Given the description of an element on the screen output the (x, y) to click on. 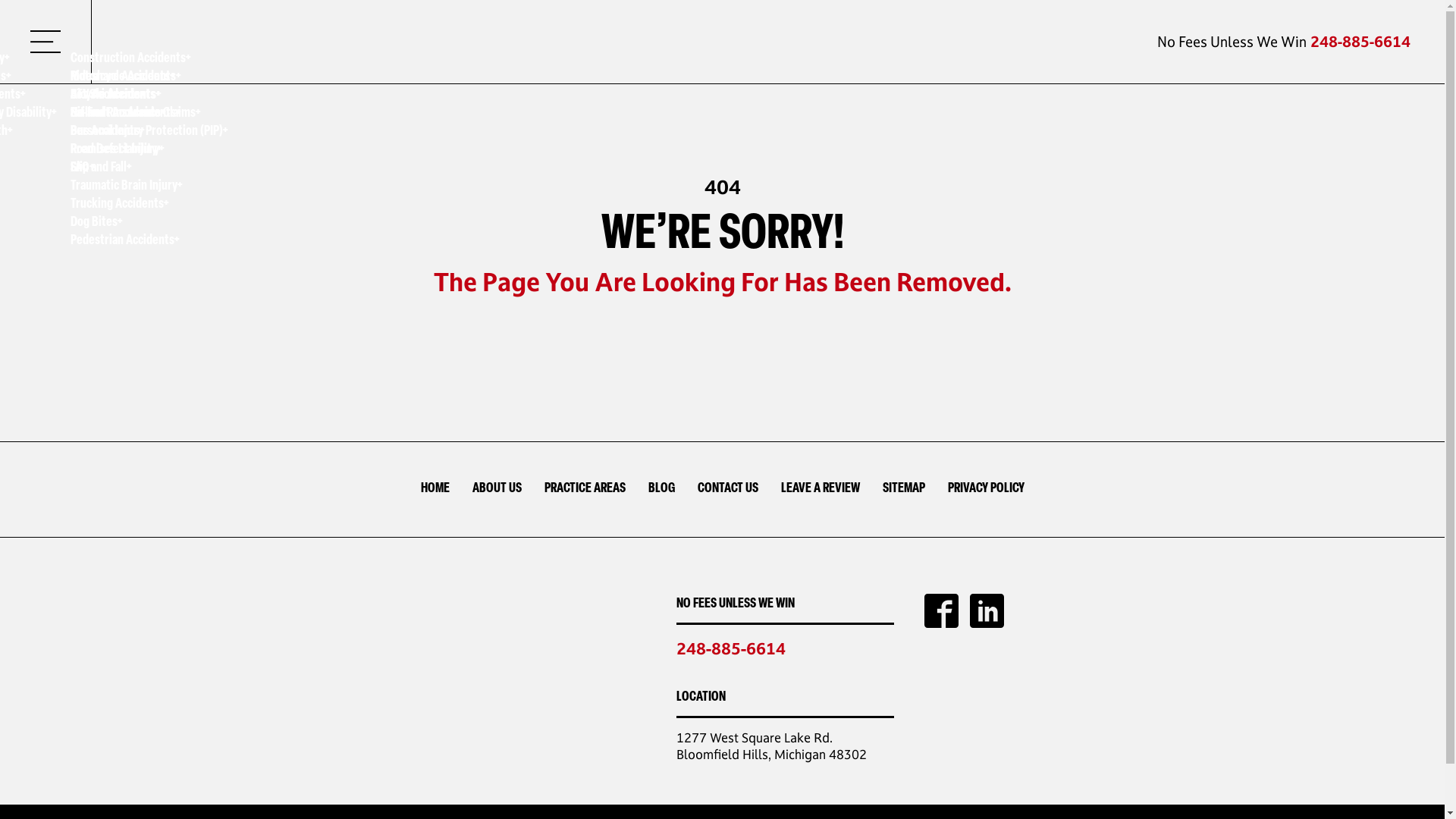
ATV Accidents
+ Element type: text (125, 96)
FAQ
+ Element type: text (125, 169)
Slip and Fall
+ Element type: text (149, 169)
1277 West Square Lake Rd.
Bloomfield Hills, Michigan 48302 Element type: text (771, 745)
Construction Accidents
+ Element type: text (149, 59)
Dog Bites
+ Element type: text (149, 223)
LEAVE A REVIEW Element type: text (819, 489)
Traumatic Brain Injury
+ Element type: text (149, 187)
Jet Ski Accidents
+ Element type: text (118, 96)
Trucking Accidents
+ Element type: text (149, 205)
Bus Accidents
+ Element type: text (125, 132)
BLOG Element type: text (661, 489)
CONTACT US Element type: text (726, 489)
248-885-6614 Element type: text (730, 648)
Sailboat Accidents
+ Element type: text (118, 114)
Hit and Run Accidents
+ Element type: text (125, 114)
No-Fault Insurance Claims
+ Element type: text (149, 114)
PRACTICE AREAS Element type: text (584, 489)
SITEMAP Element type: text (902, 489)
Pedestrian Accidents
+ Element type: text (149, 241)
Bicycle Accidents
+ Element type: text (149, 96)
Personal Injury Protection (PIP)
+ Element type: text (149, 132)
Rideshare Accidents
+ Element type: text (125, 78)
Motorcycle Accidents
+ Element type: text (149, 78)
PRIVACY POLICY Element type: text (985, 489)
248-885-6614 Element type: text (1360, 41)
Road Defect Injury
+ Element type: text (125, 150)
HOME Element type: text (435, 489)
ABOUT US Element type: text (497, 489)
Premises Liability
+ Element type: text (149, 150)
